Given the description of an element on the screen output the (x, y) to click on. 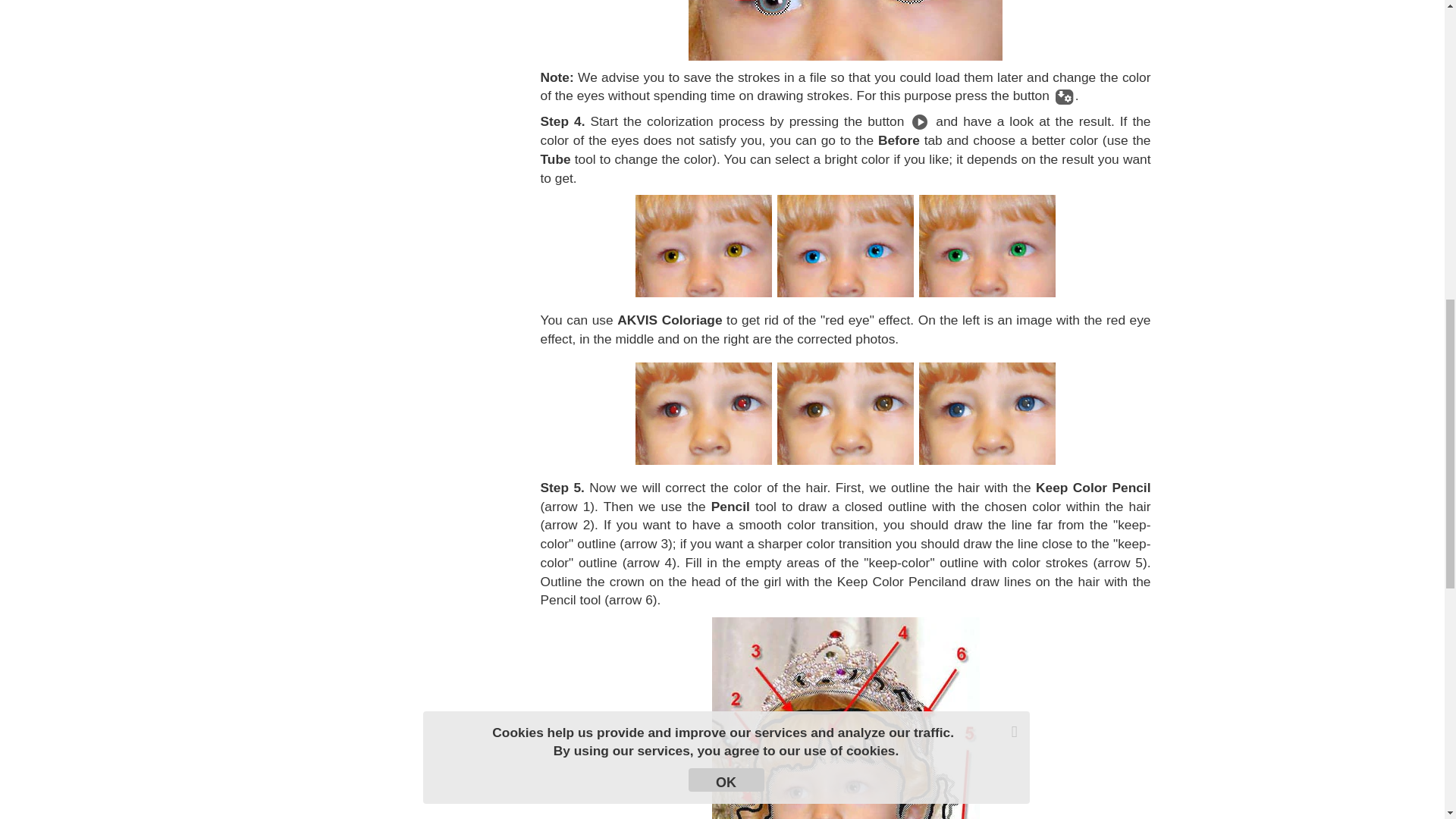
yellow eyes (702, 245)
Apply strokes to correct the color of the hair (844, 718)
bright blue eyes (845, 245)
red eye effect (702, 413)
green eyes (986, 245)
red eye effect removal (986, 413)
red eye effect removal (845, 413)
